Given the description of an element on the screen output the (x, y) to click on. 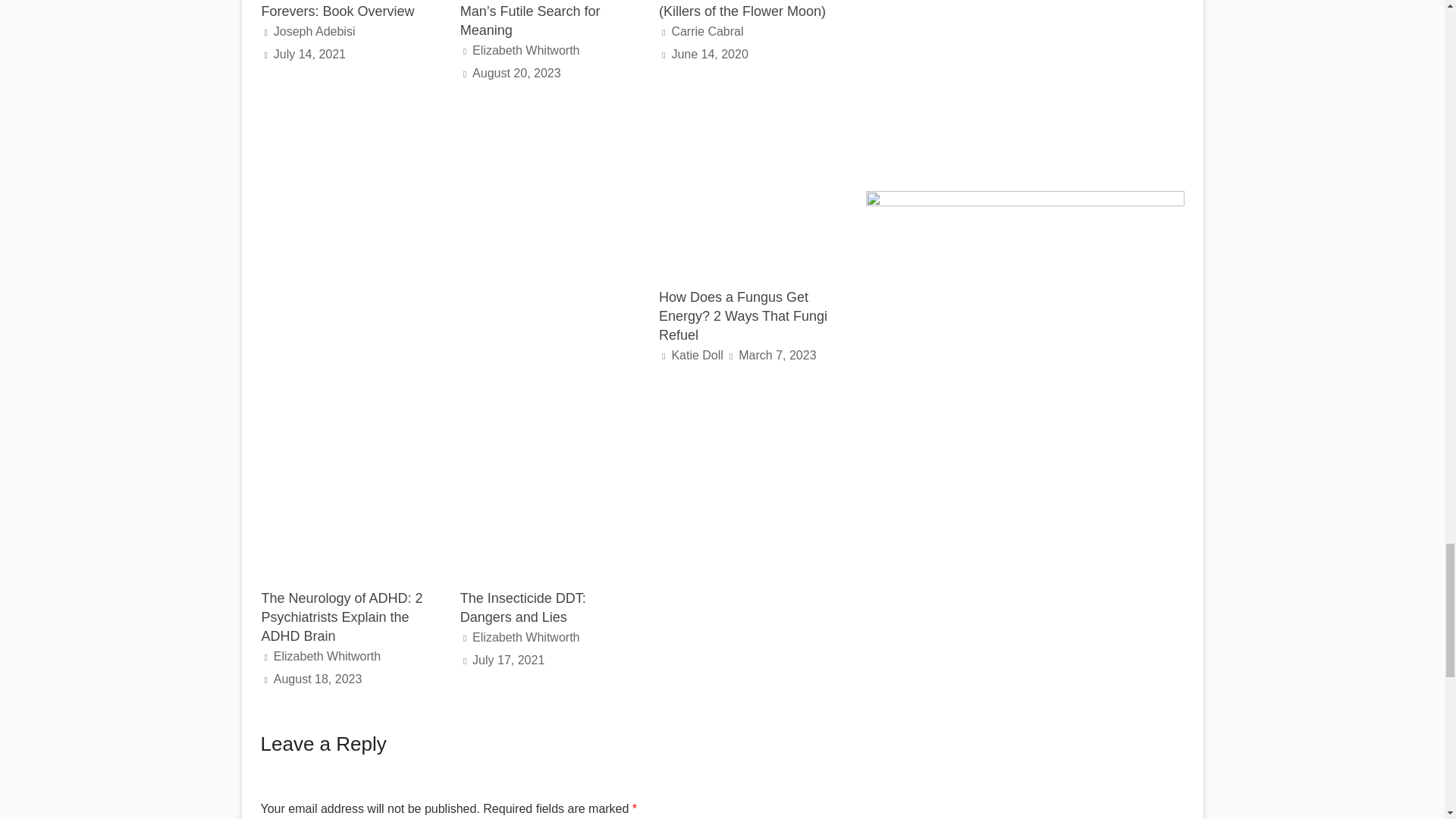
Joseph Adebisi (314, 31)
Behind the Beautiful Forevers: Book Overview (336, 9)
August 20, 2023 (515, 72)
Elizabeth Whitworth (525, 50)
June 14, 2020 (709, 53)
July 14, 2021 (309, 53)
7:09 pm (709, 53)
How Does a Fungus Get Energy? 2 Ways That Fungi Refuel (743, 111)
4:58 am (309, 53)
10:19 am (515, 72)
